Given the description of an element on the screen output the (x, y) to click on. 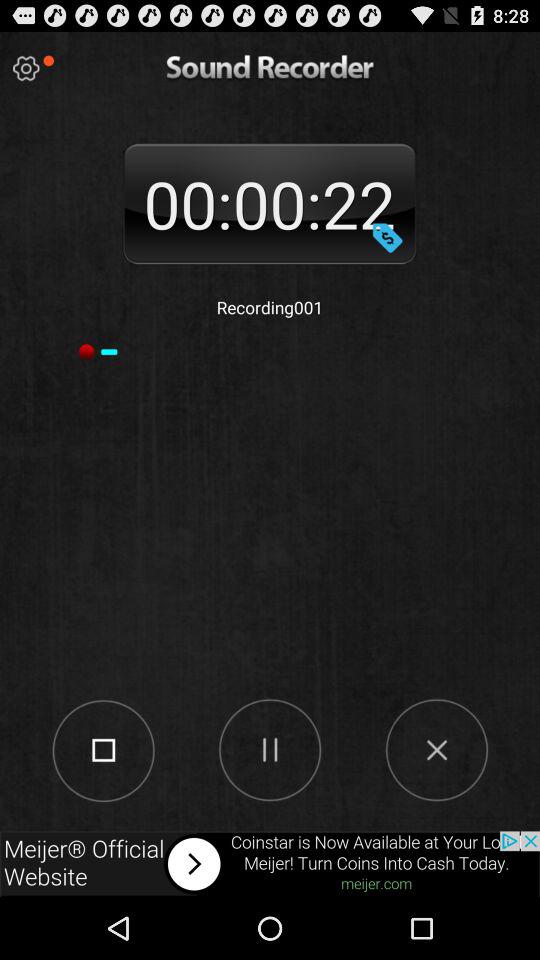
go next (270, 864)
